Given the description of an element on the screen output the (x, y) to click on. 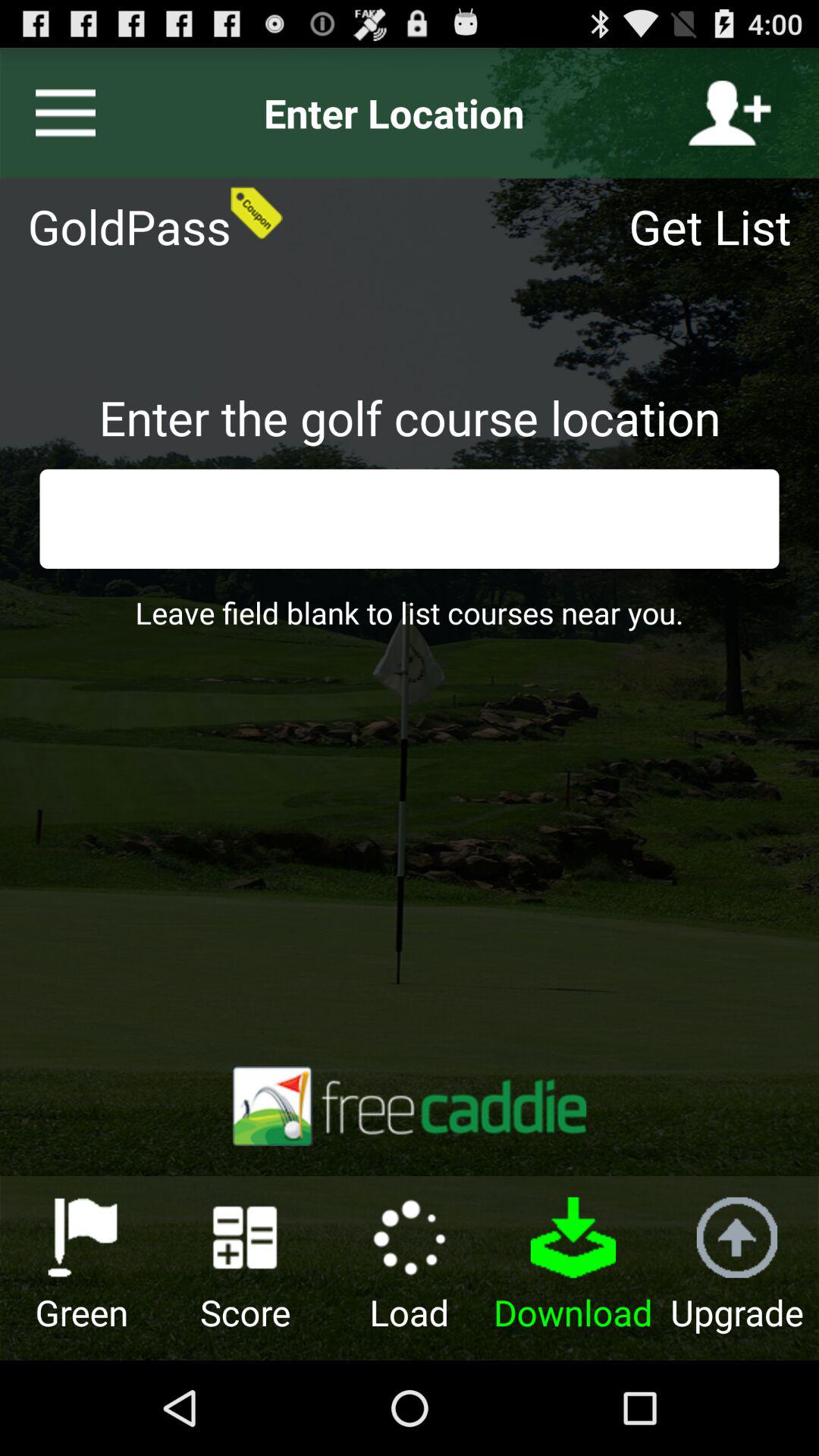
open get list icon (720, 226)
